Given the description of an element on the screen output the (x, y) to click on. 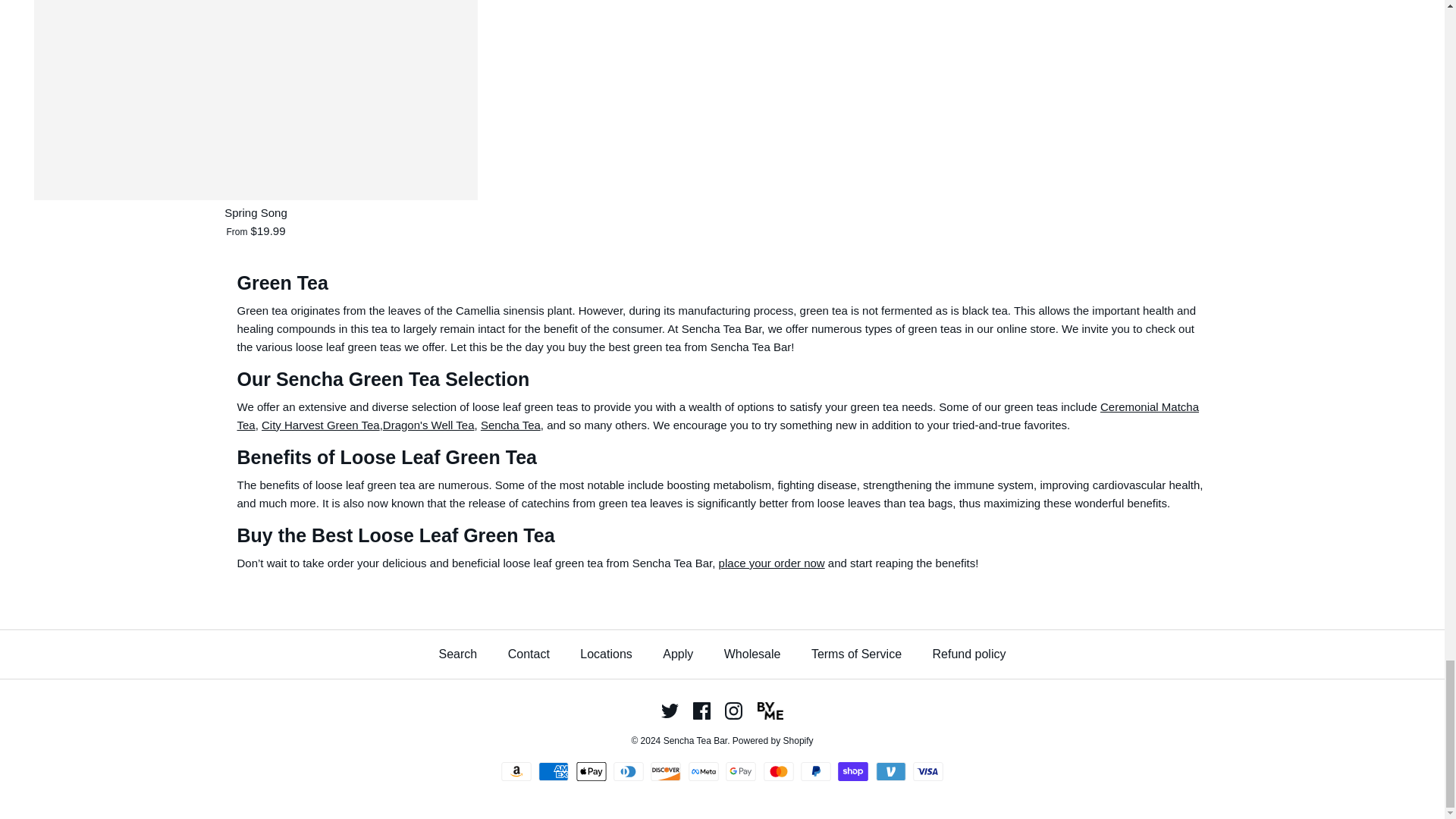
Diners Club (627, 771)
Visa (927, 771)
American Express (553, 771)
Amazon (515, 771)
Twitter (669, 710)
Instagram (733, 710)
Discover (665, 771)
Google Pay (740, 771)
Mastercard (777, 771)
Venmo (890, 771)
